Given the description of an element on the screen output the (x, y) to click on. 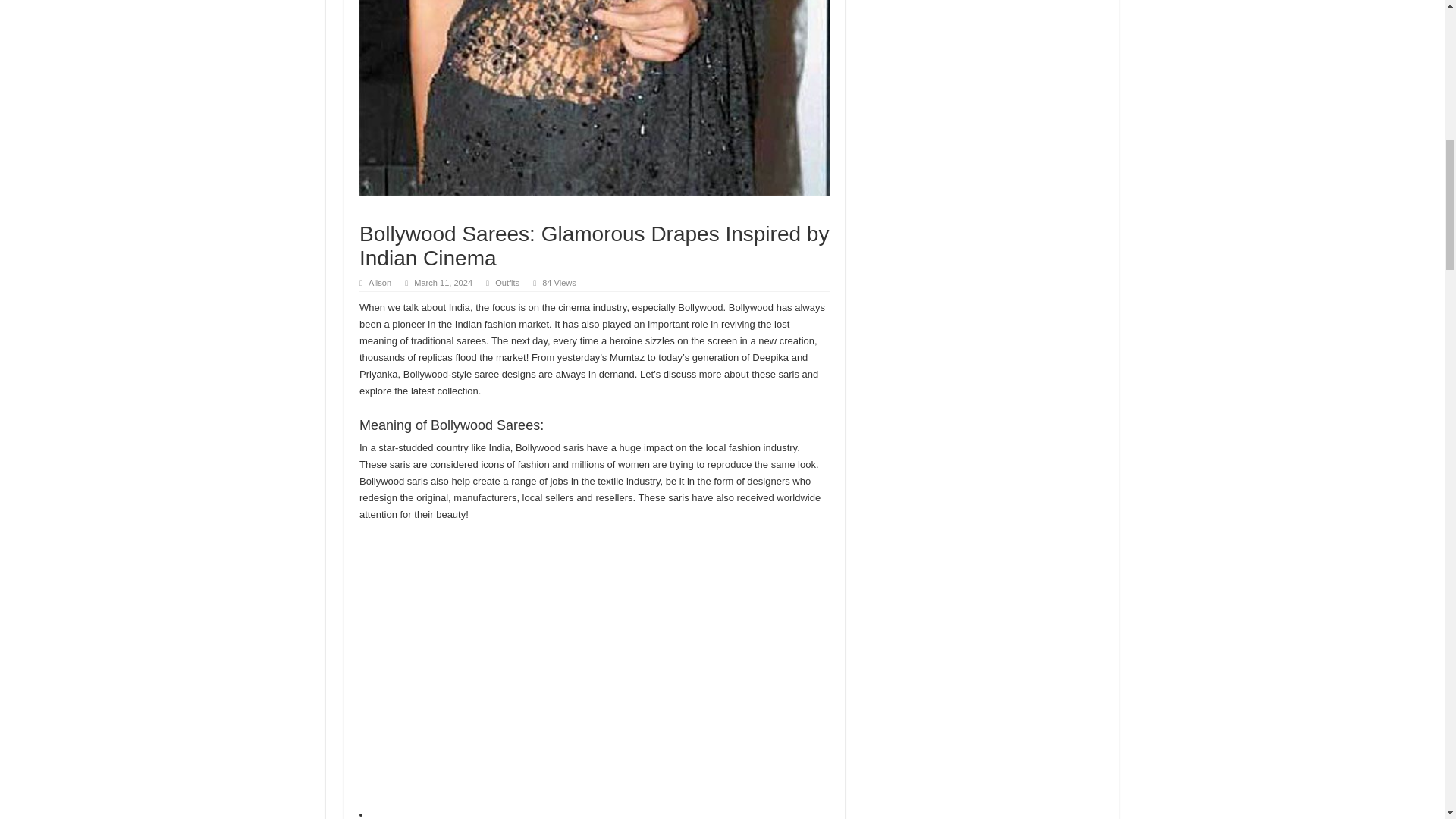
Scroll To Top (1421, 60)
Outfits (507, 282)
Alison (379, 282)
Bollywood Sarees: Glamorous Drapes Inspired by Indian Cinema (594, 97)
